Given the description of an element on the screen output the (x, y) to click on. 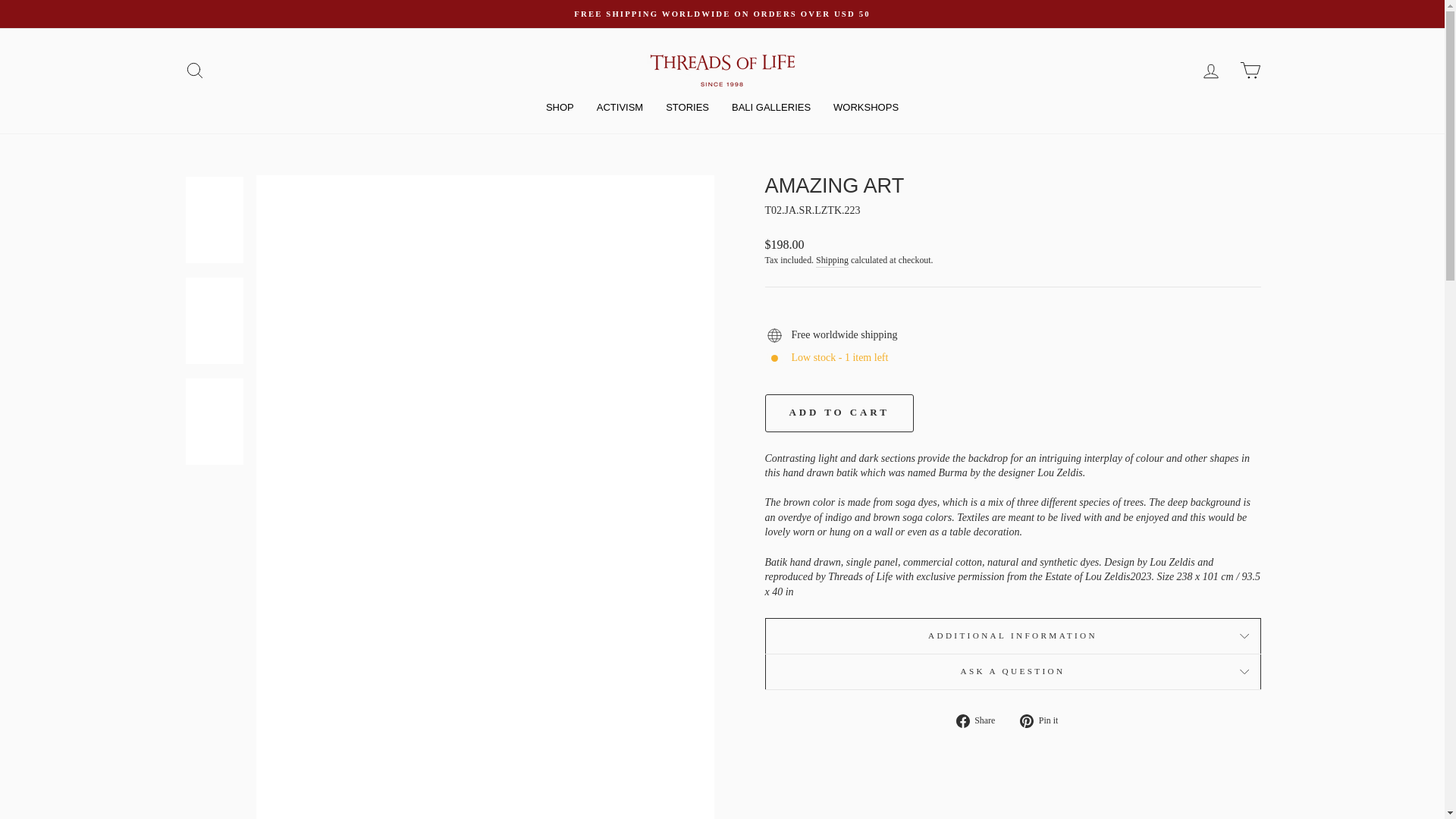
Share on Facebook (981, 720)
Pin on Pinterest (1044, 720)
